Given the description of an element on the screen output the (x, y) to click on. 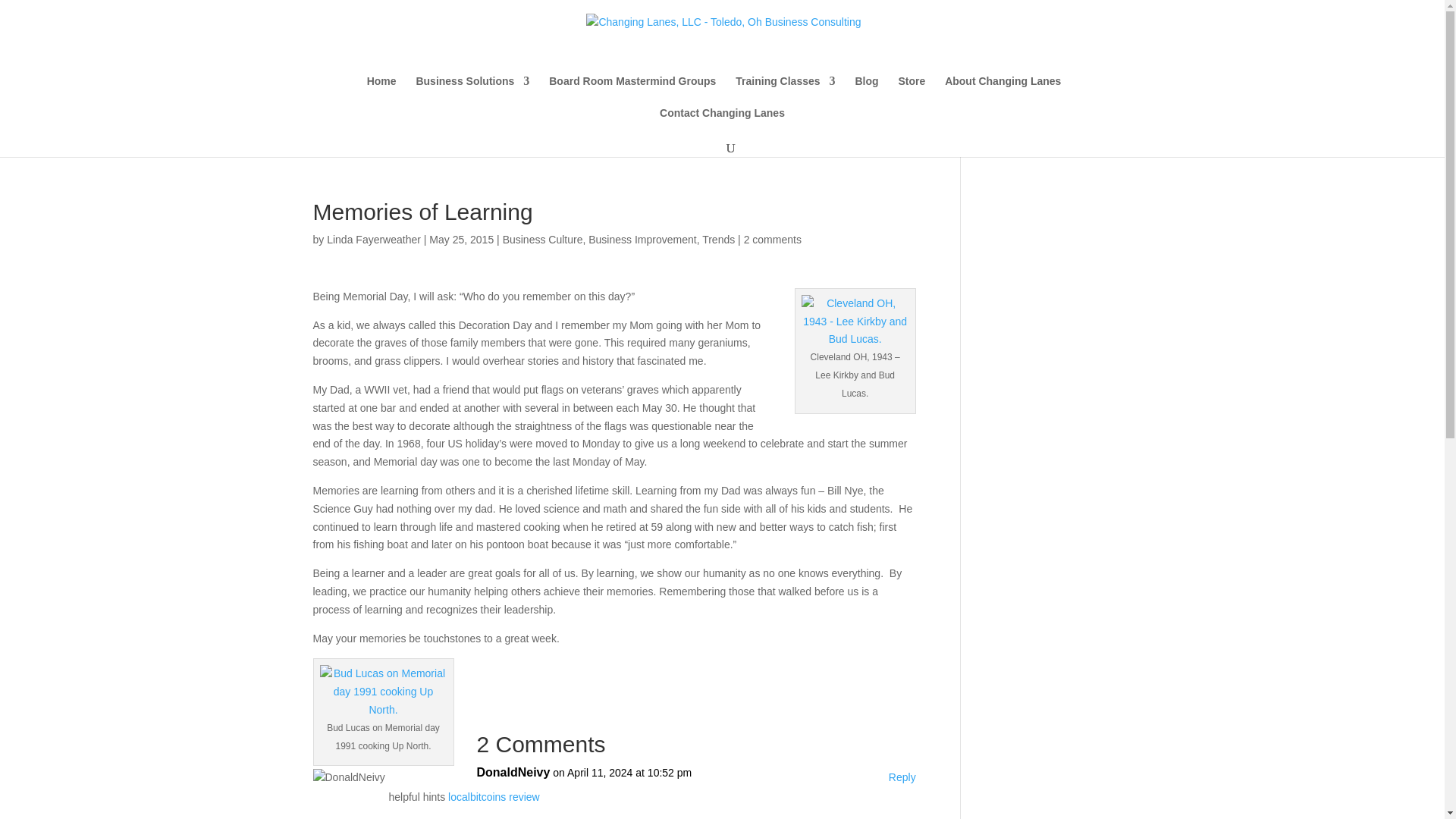
Posts by Linda Fayerweather (373, 239)
Trends (718, 239)
About Changing Lanes (1002, 91)
Business Solutions (471, 91)
Reply (901, 778)
DonaldNeivy (513, 772)
Business Improvement (641, 239)
localbitcoins review (494, 797)
Home (381, 91)
Contact Changing Lanes (721, 123)
